Given the description of an element on the screen output the (x, y) to click on. 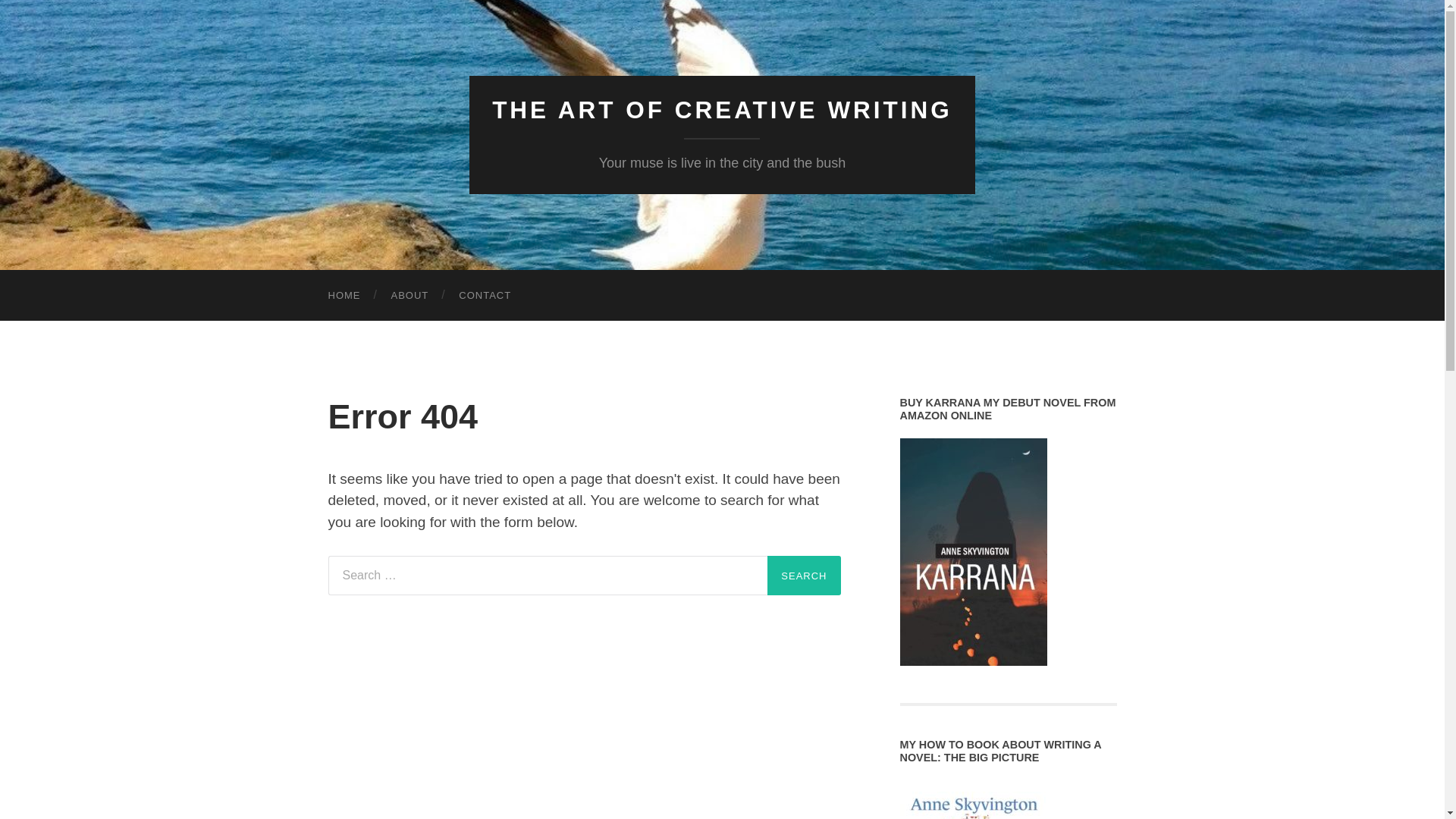
Search (803, 575)
CONTACT (484, 295)
My How To book about Writing A Novel: The Big Picture (972, 799)
THE ART OF CREATIVE WRITING (722, 109)
Search (803, 575)
HOME (344, 295)
Search (803, 575)
Buy Karrana my debut novel from Amazon online (972, 551)
ABOUT (409, 295)
